Given the description of an element on the screen output the (x, y) to click on. 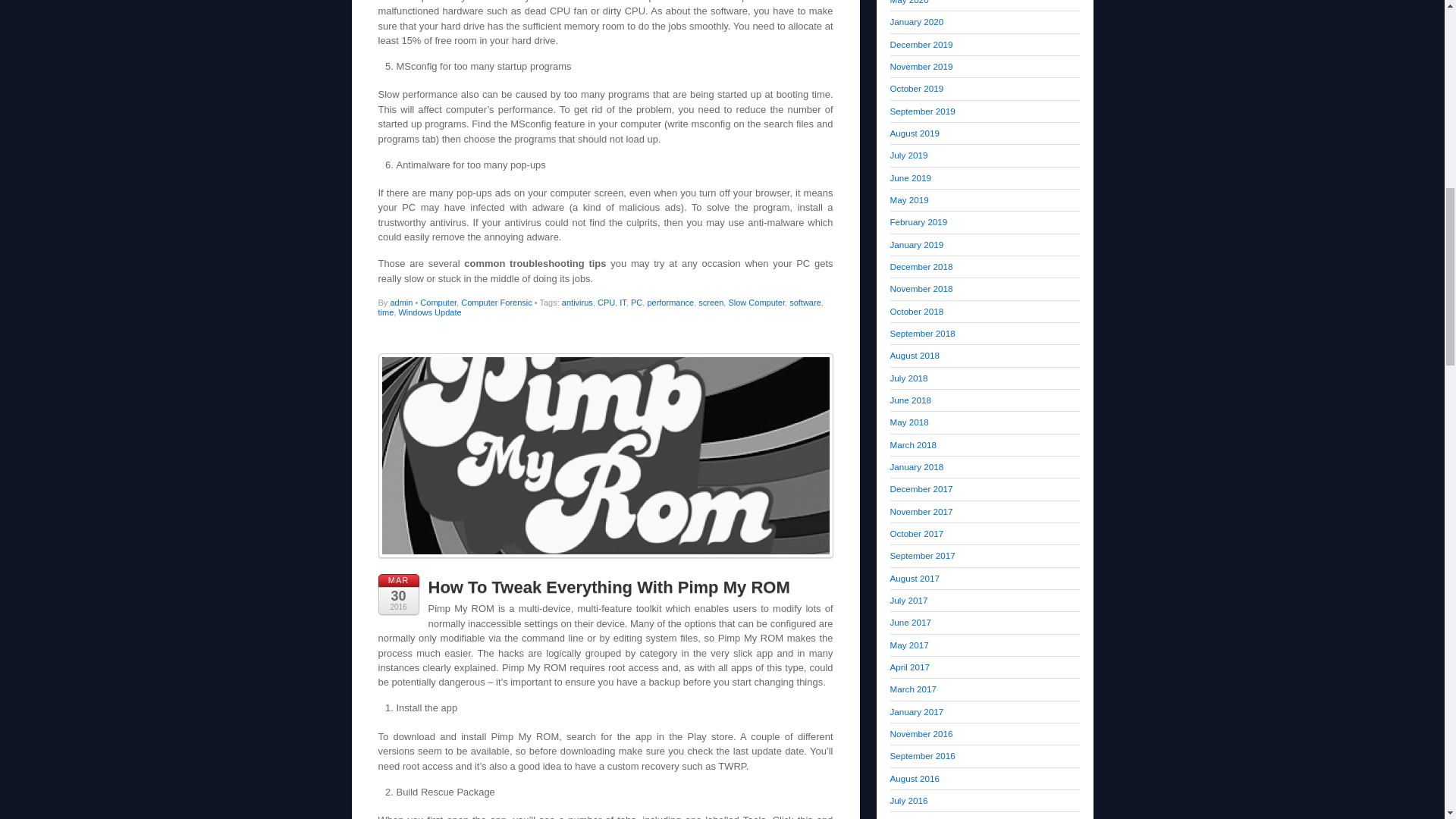
Slow Computer (756, 302)
PC (636, 302)
performance (670, 302)
admin (401, 302)
antivirus (577, 302)
time (385, 311)
Windows Update (429, 311)
Computer (438, 302)
Computer Forensic (496, 302)
screen (710, 302)
